Given the description of an element on the screen output the (x, y) to click on. 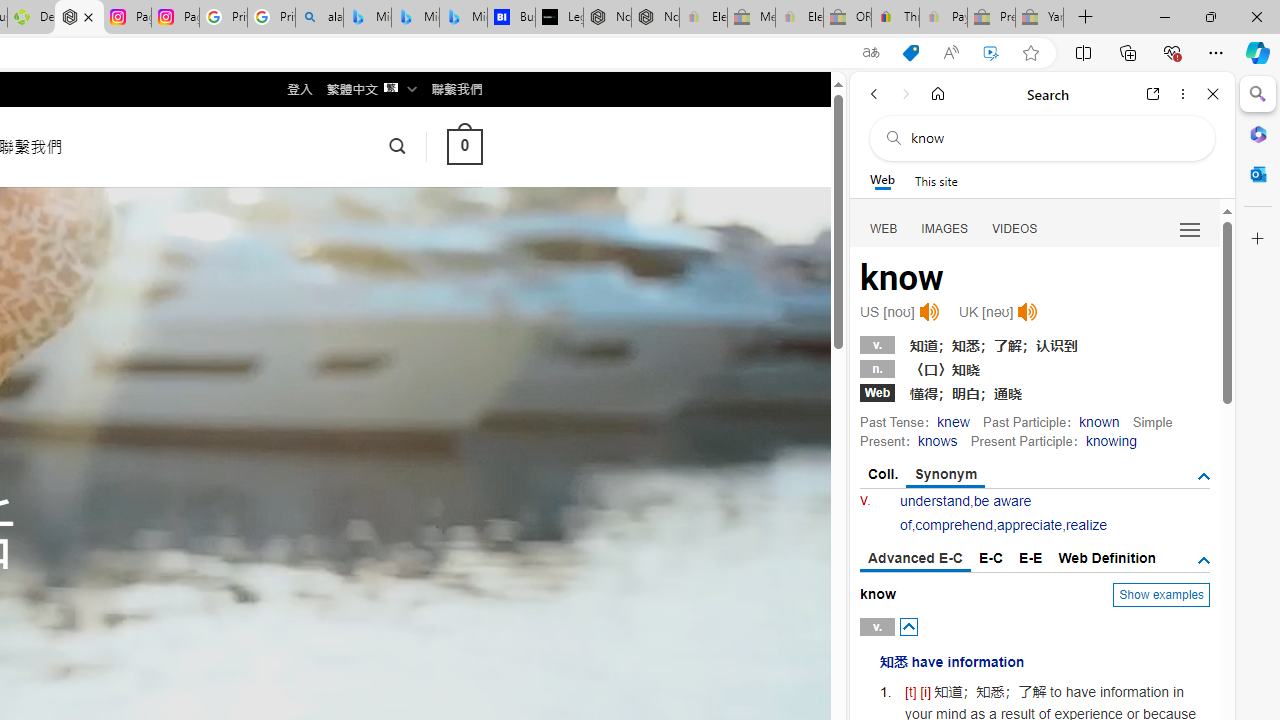
AutomationID: tgdef (1203, 561)
Threats and offensive language policy | eBay (895, 17)
